Given the description of an element on the screen output the (x, y) to click on. 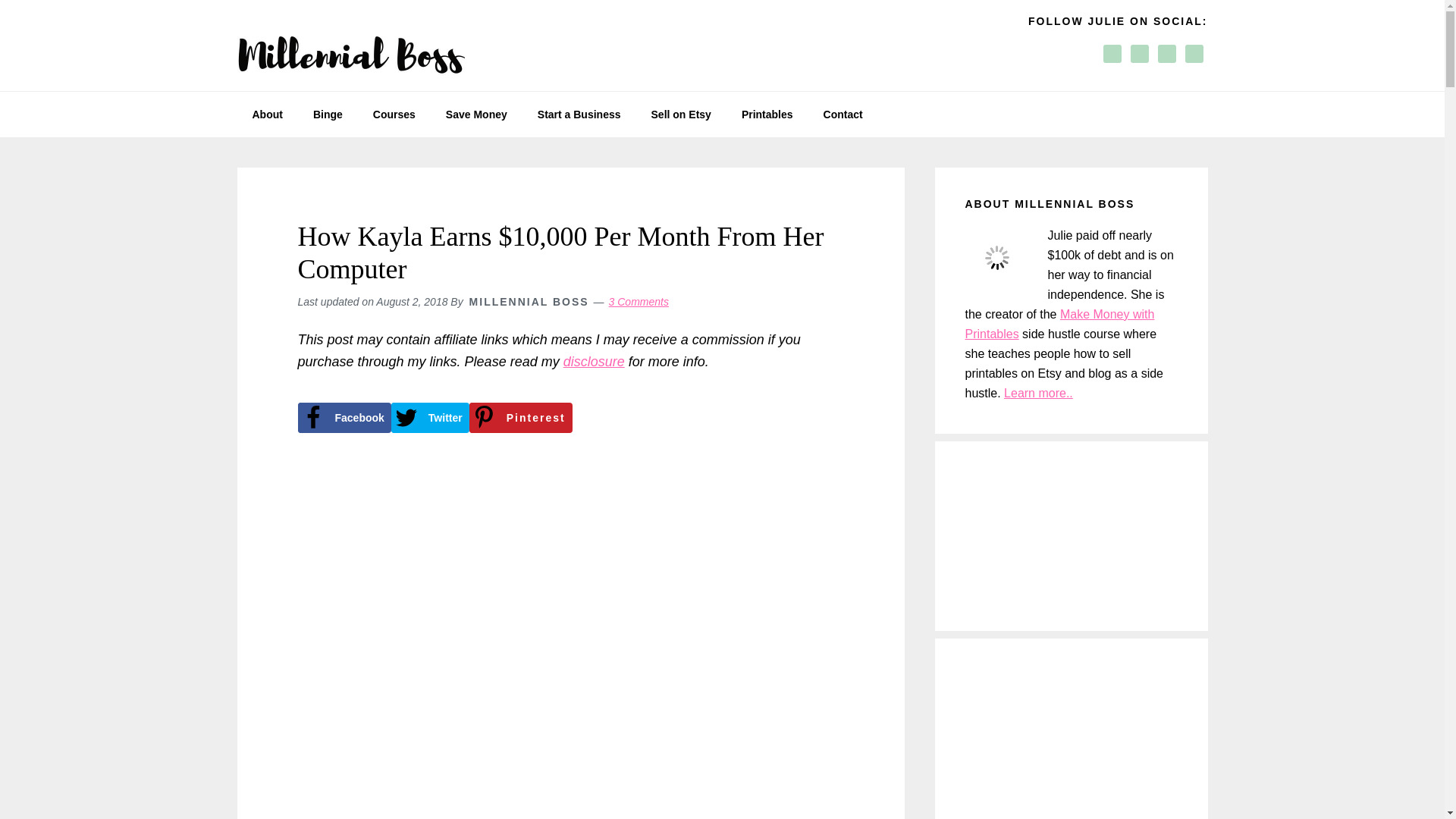
Save to Pinterest (520, 417)
Start a Business (579, 114)
Sell on Etsy (681, 114)
About (266, 114)
Share on Facebook (343, 417)
Share on Twitter (429, 417)
Contact (842, 114)
Printables (767, 114)
MILLENNIAL BOSS (528, 301)
